Given the description of an element on the screen output the (x, y) to click on. 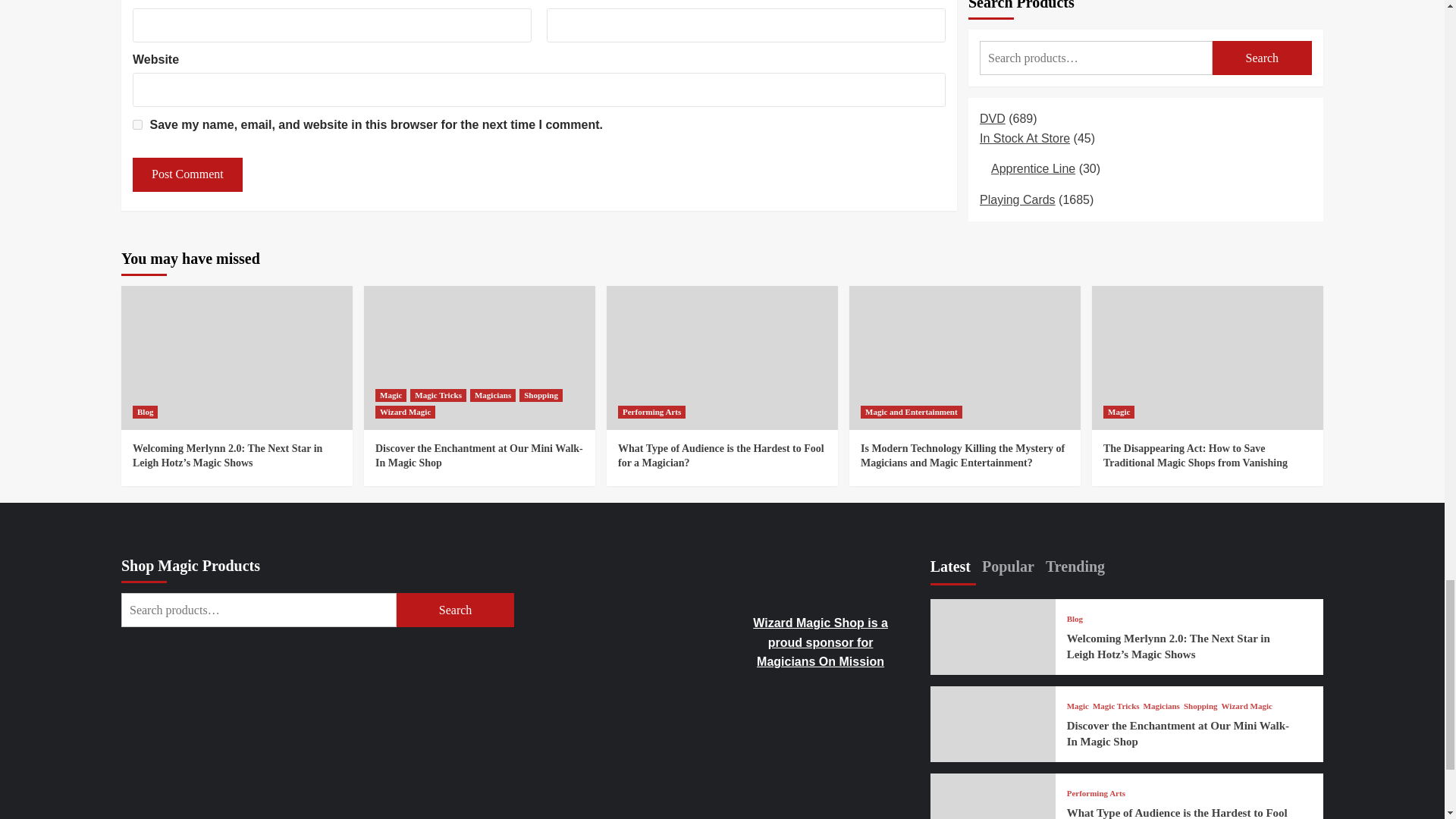
yes (137, 124)
Post Comment (187, 174)
Post Comment (187, 174)
